Given the description of an element on the screen output the (x, y) to click on. 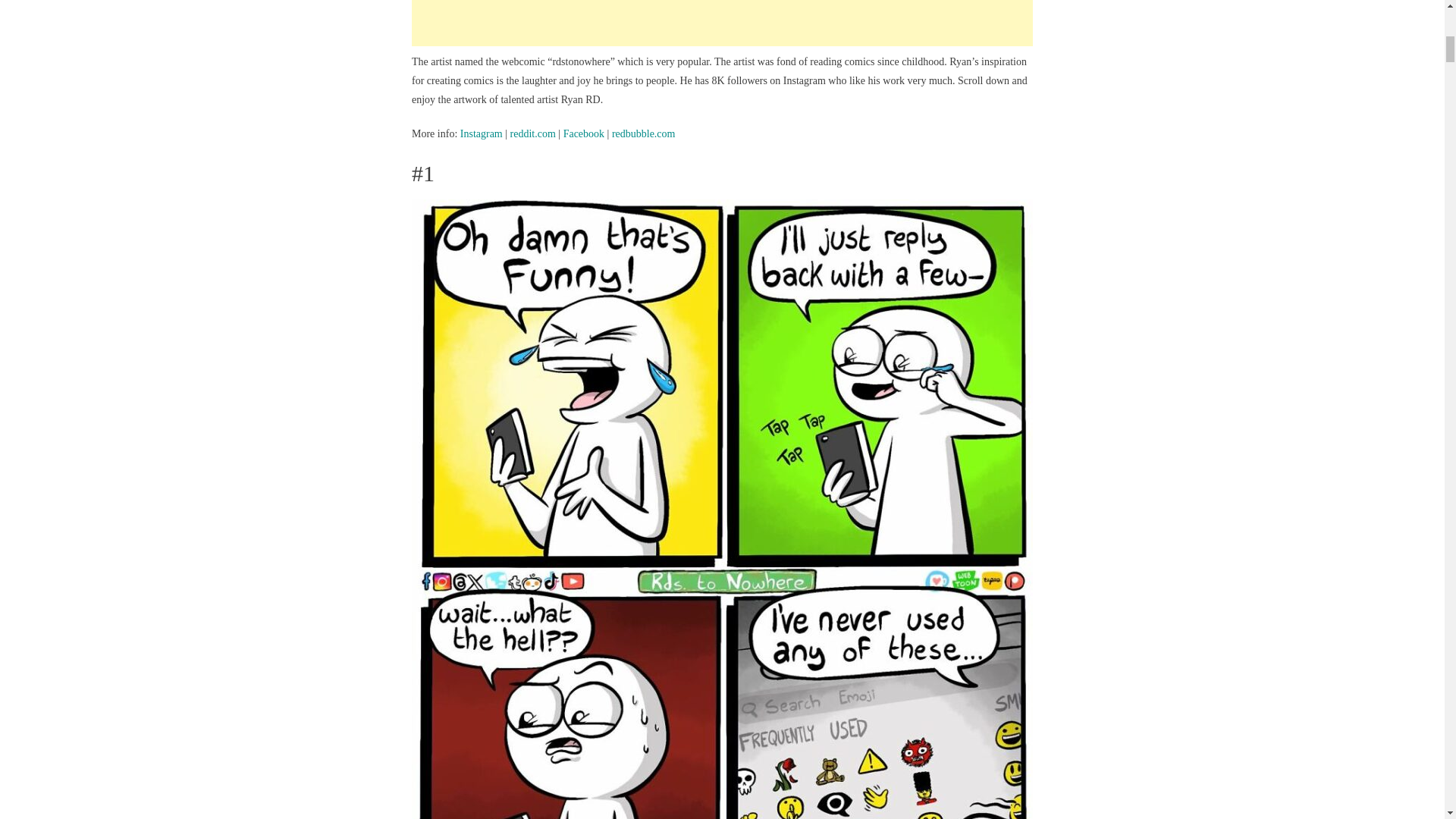
reddit.com (533, 133)
Instagram (481, 133)
redbubble.com (643, 133)
Facebook (583, 133)
